Given the description of an element on the screen output the (x, y) to click on. 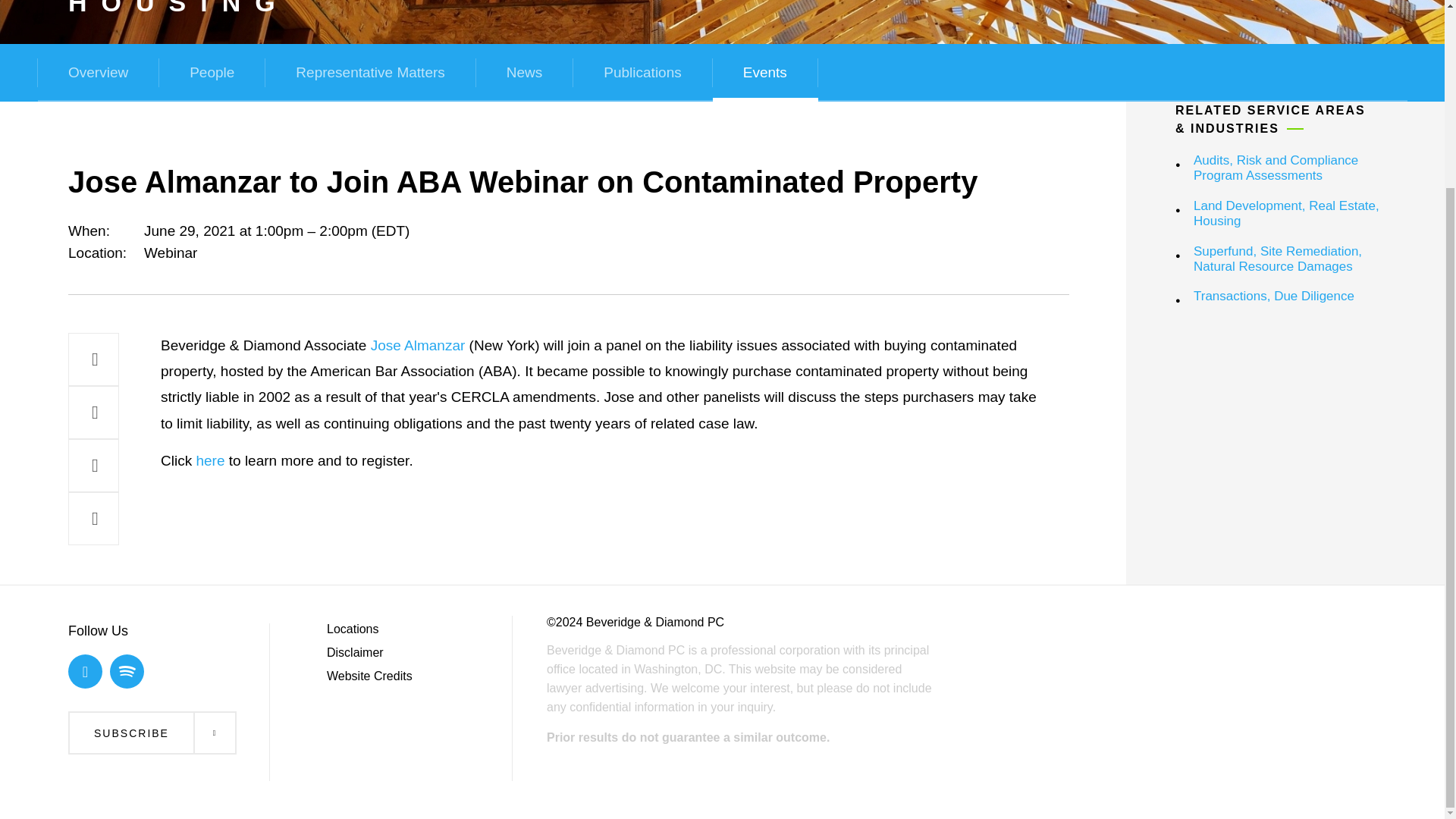
News (524, 71)
Overview (97, 71)
Representative Matters (370, 71)
Events (764, 71)
People (211, 71)
LAND DEVELOPMENT, REAL ESTATE, HOUSING (560, 8)
Publications (641, 71)
